Given the description of an element on the screen output the (x, y) to click on. 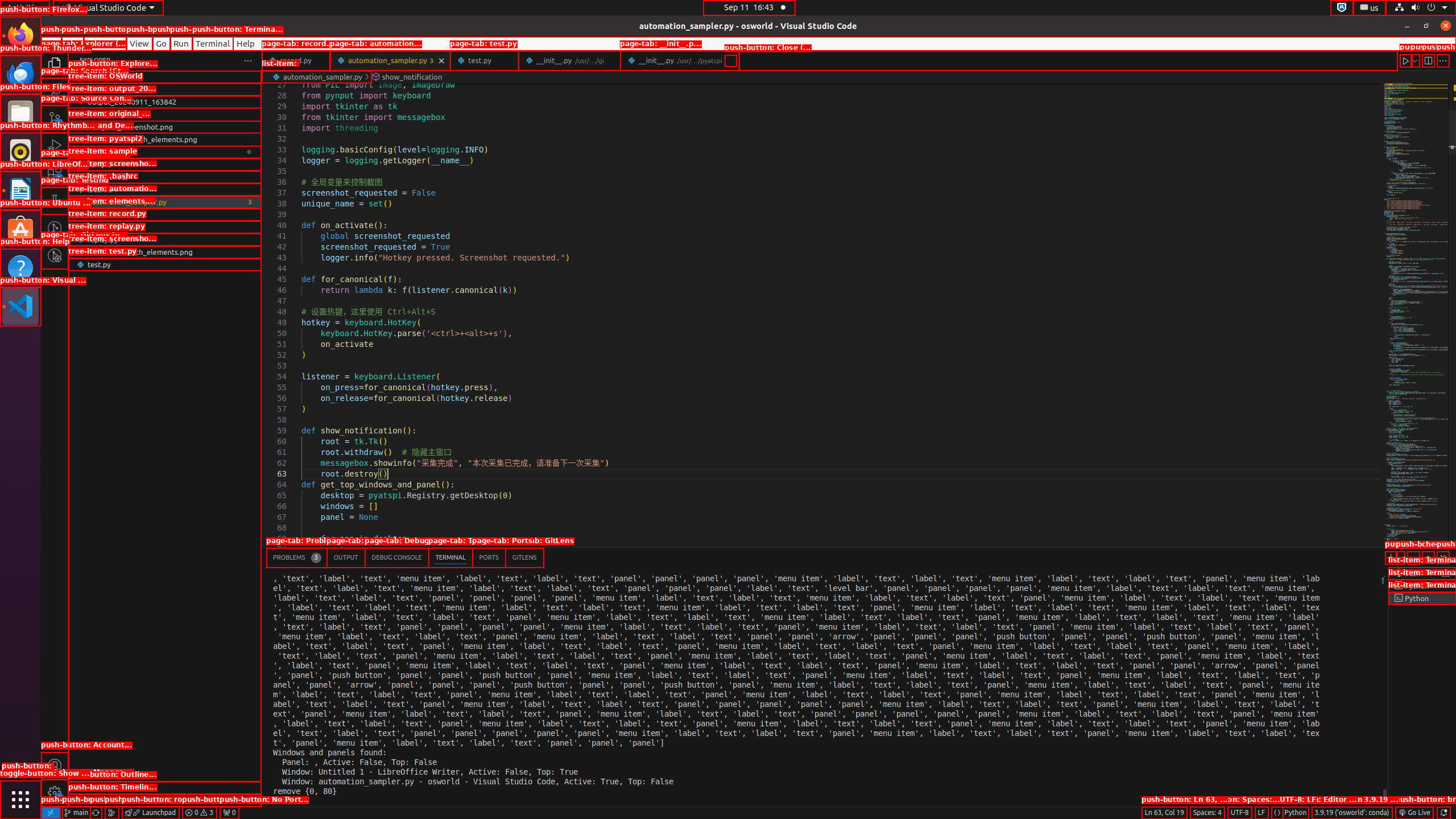
Run Element type: push-button (181, 43)
Selection Element type: push-button (104, 43)
Outline Section Element type: push-button (164, 787)
No Ports Forwarded Element type: push-button (228, 812)
